Given the description of an element on the screen output the (x, y) to click on. 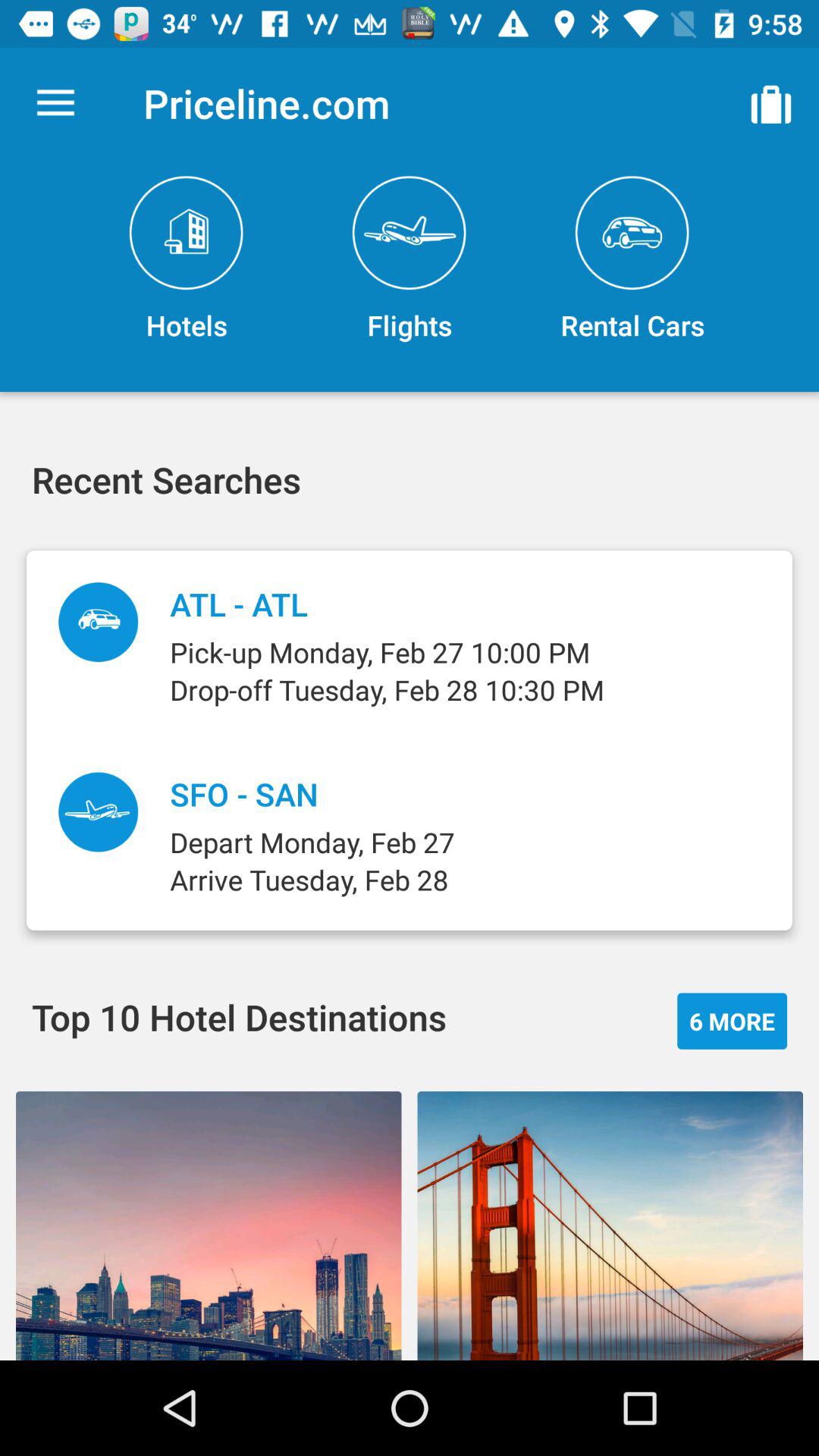
click icon next to hotels icon (409, 259)
